Given the description of an element on the screen output the (x, y) to click on. 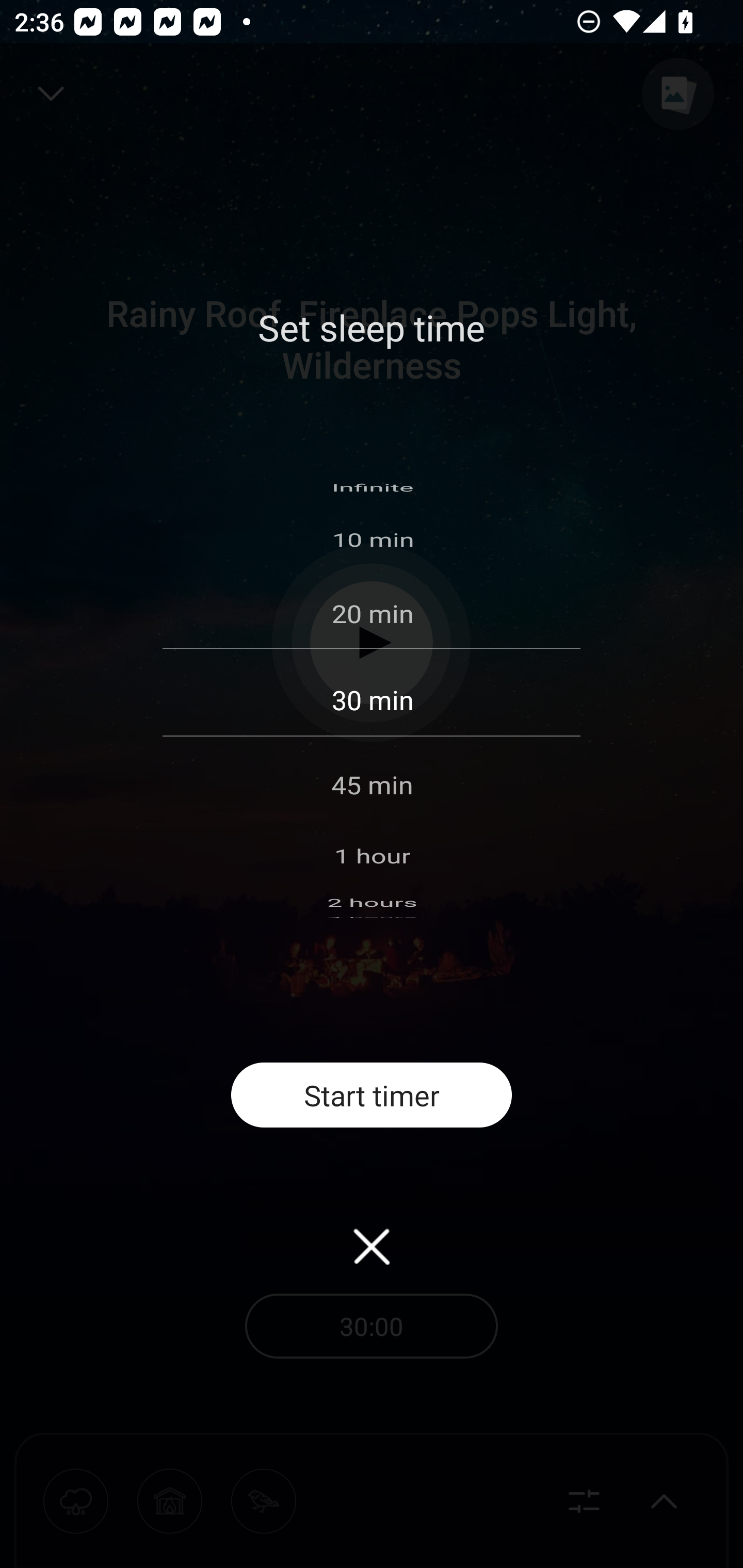
Start timer (371, 1095)
